Given the description of an element on the screen output the (x, y) to click on. 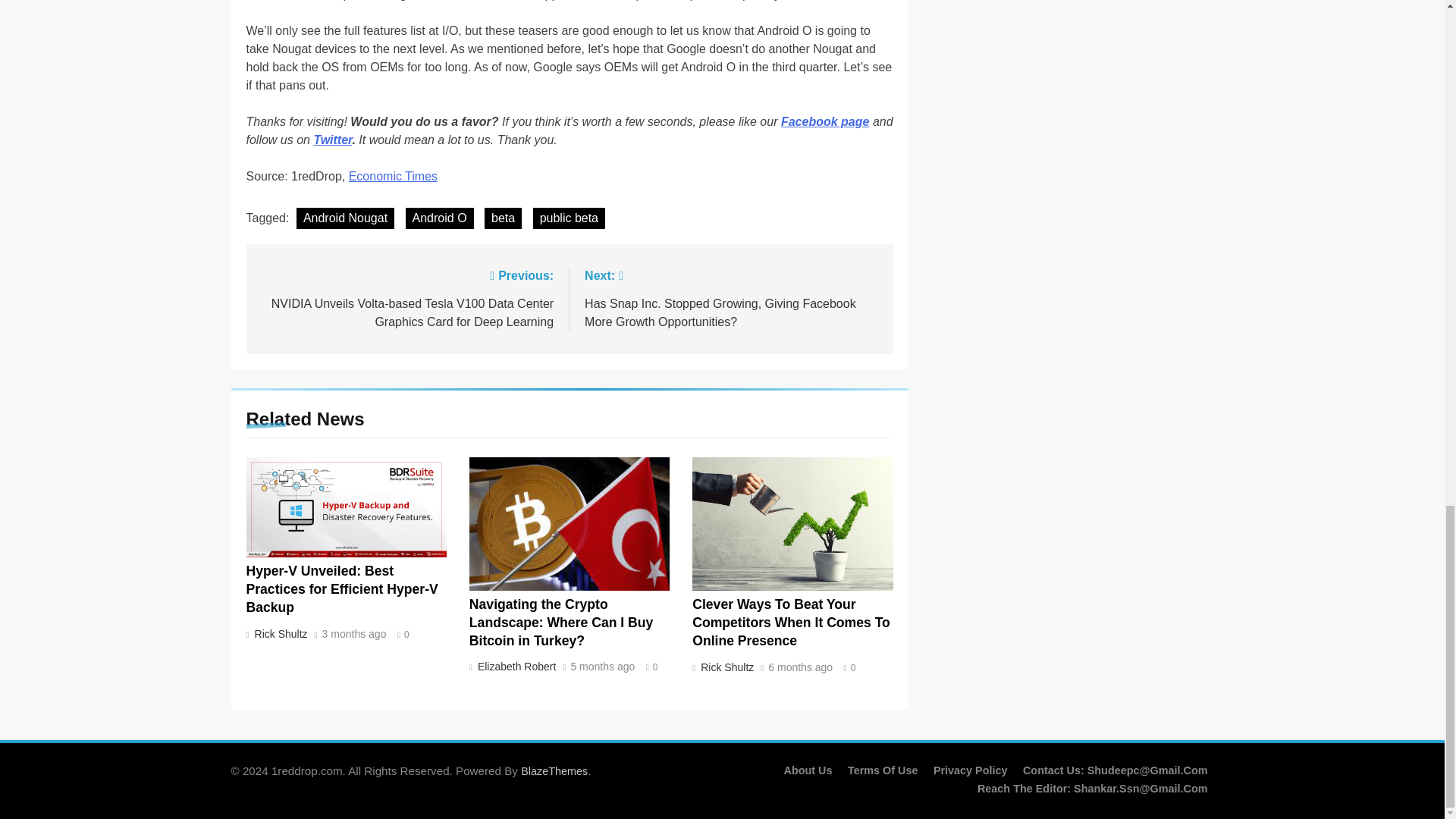
Facebook page (824, 121)
